Given the description of an element on the screen output the (x, y) to click on. 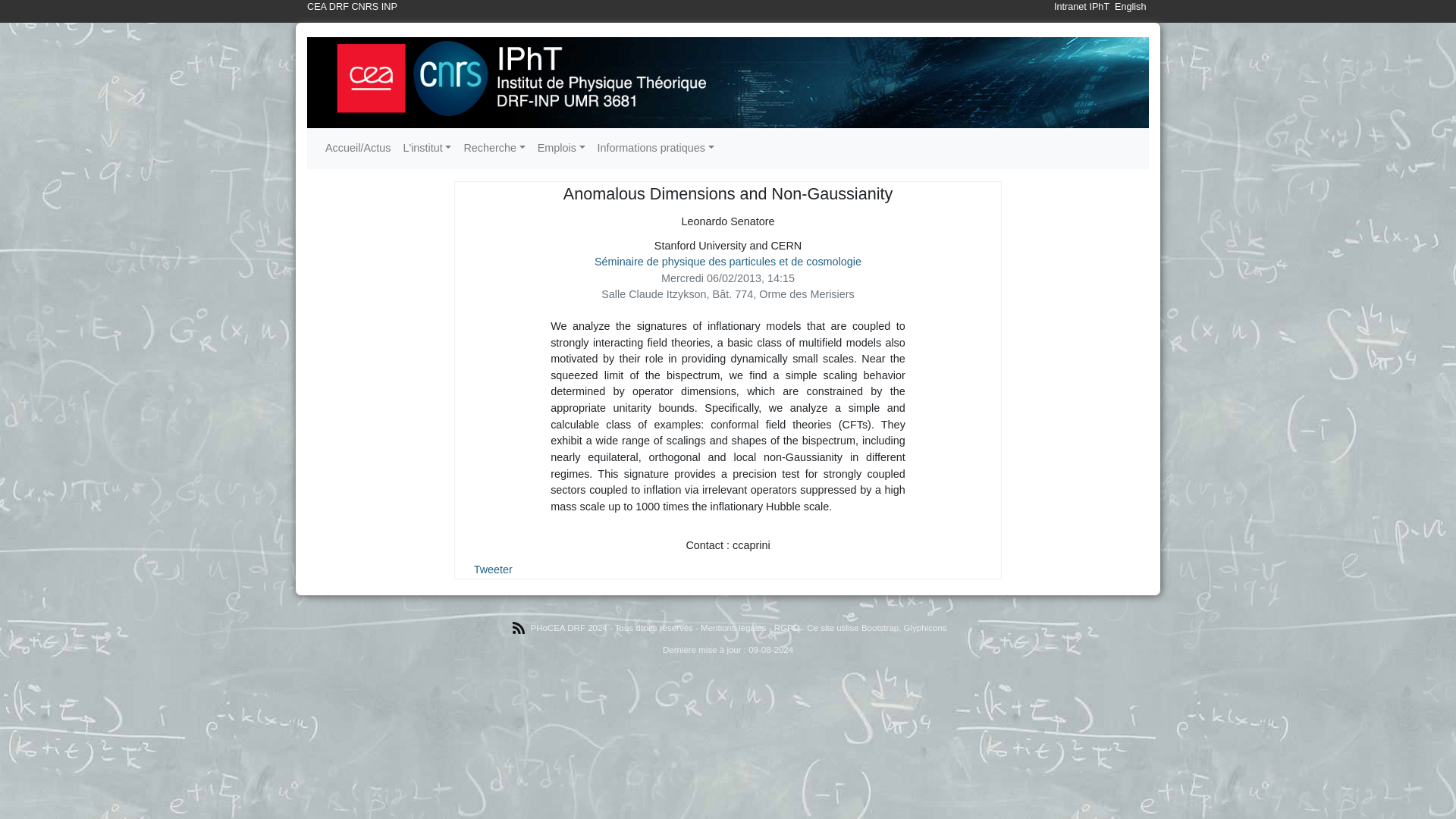
CNRS (364, 6)
L'institut (426, 148)
Recherche (494, 148)
English (1131, 6)
DRF (339, 6)
Intranet IPhT (1081, 6)
CEA (316, 6)
INP (389, 6)
